Given the description of an element on the screen output the (x, y) to click on. 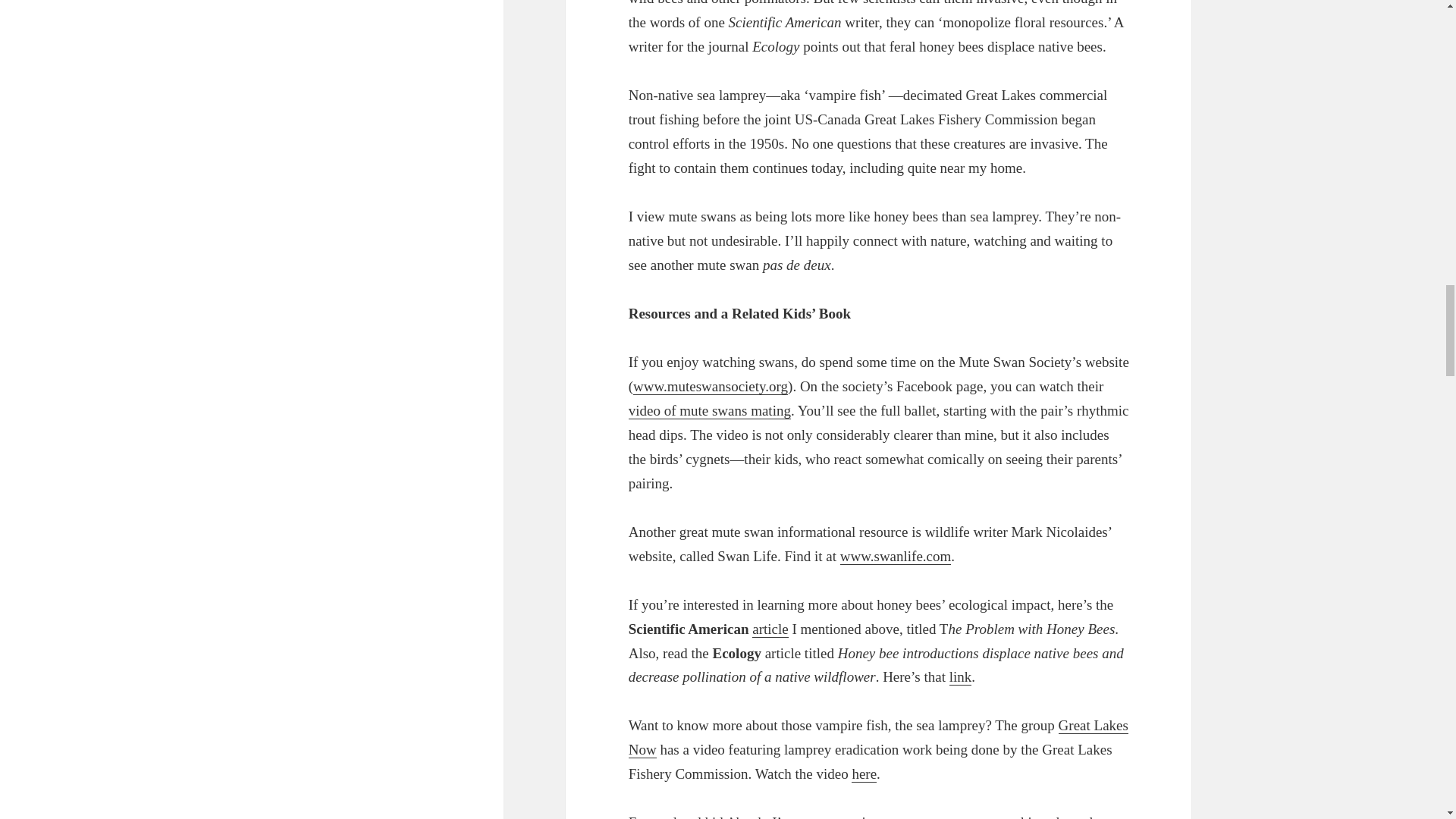
article (769, 629)
link (960, 677)
Great Lakes Now (878, 737)
here (863, 773)
www.swanlife.com (896, 556)
www.muteswansociety.org (710, 386)
video of mute swans mating (709, 410)
